Given the description of an element on the screen output the (x, y) to click on. 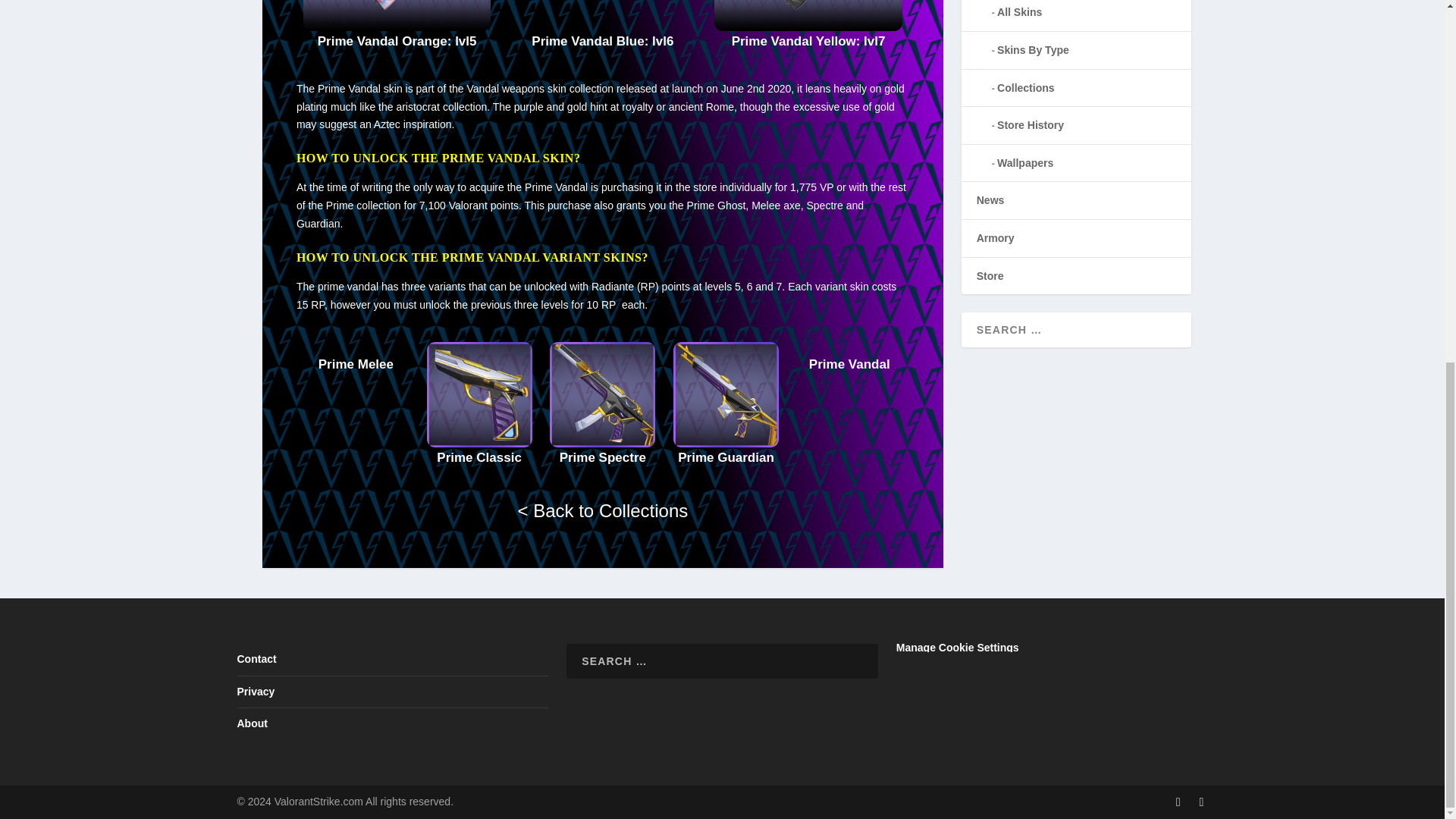
Prime Vandal Orange Variant vlv5 (397, 27)
Valorant-Prime-Vandal-Yellow-Variant-3 (808, 15)
Valorant-Prime-Vandal-Orange-Variant-1 (397, 15)
Valorant Prime Vandal blue Variant 2 (602, 27)
Valorant-Prime-Classic-Small (479, 394)
Prime Vandal yellow Variant 3 (808, 27)
Valorant-Prime-Guardian-Small (725, 394)
Valorant-Prime-Spectre-Small (602, 394)
